Given the description of an element on the screen output the (x, y) to click on. 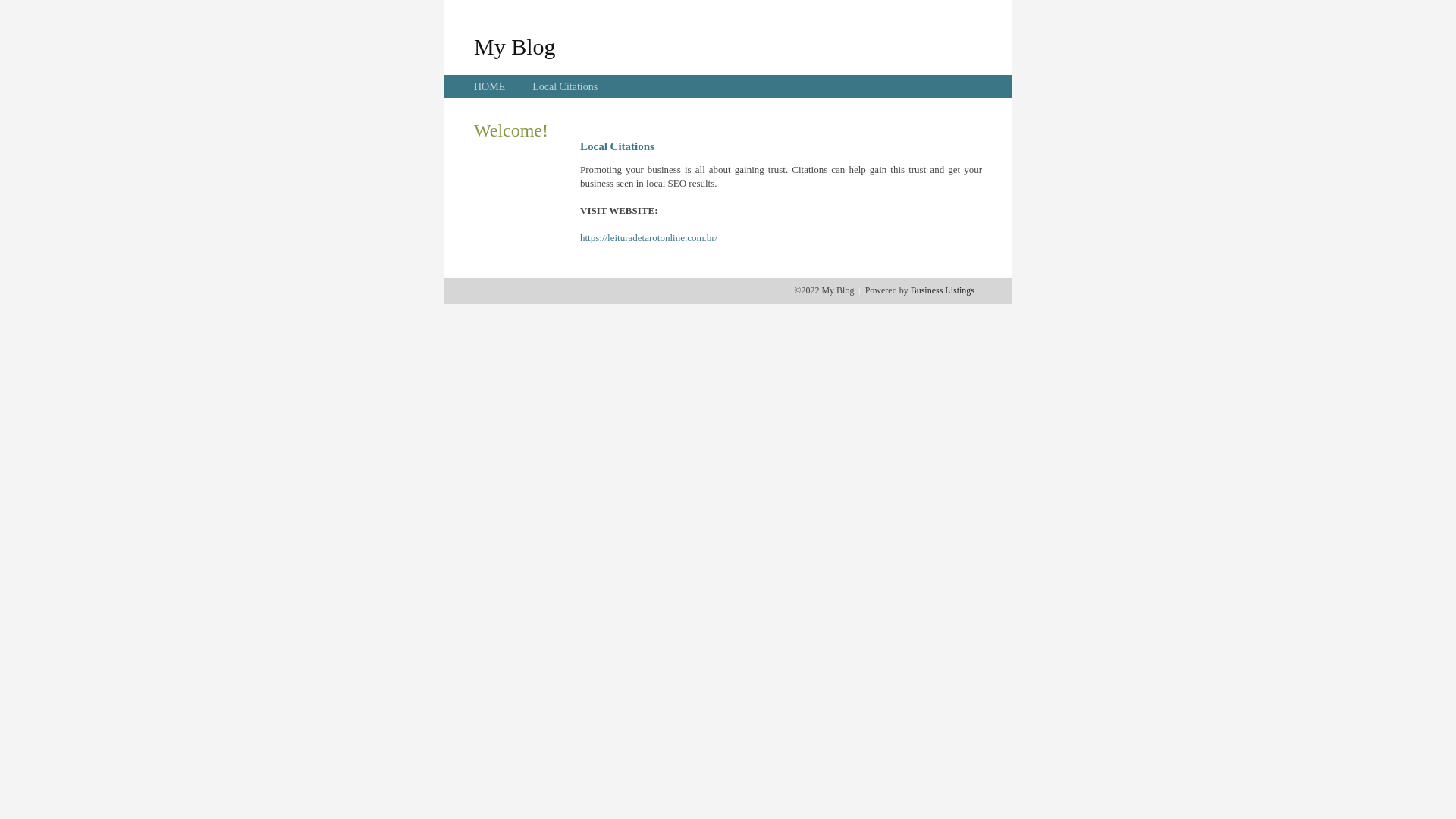
https://leituradetarotonline.com.br/ Element type: text (648, 237)
Local Citations Element type: text (564, 86)
My Blog Element type: text (514, 46)
HOME Element type: text (489, 86)
Business Listings Element type: text (942, 290)
